Given the description of an element on the screen output the (x, y) to click on. 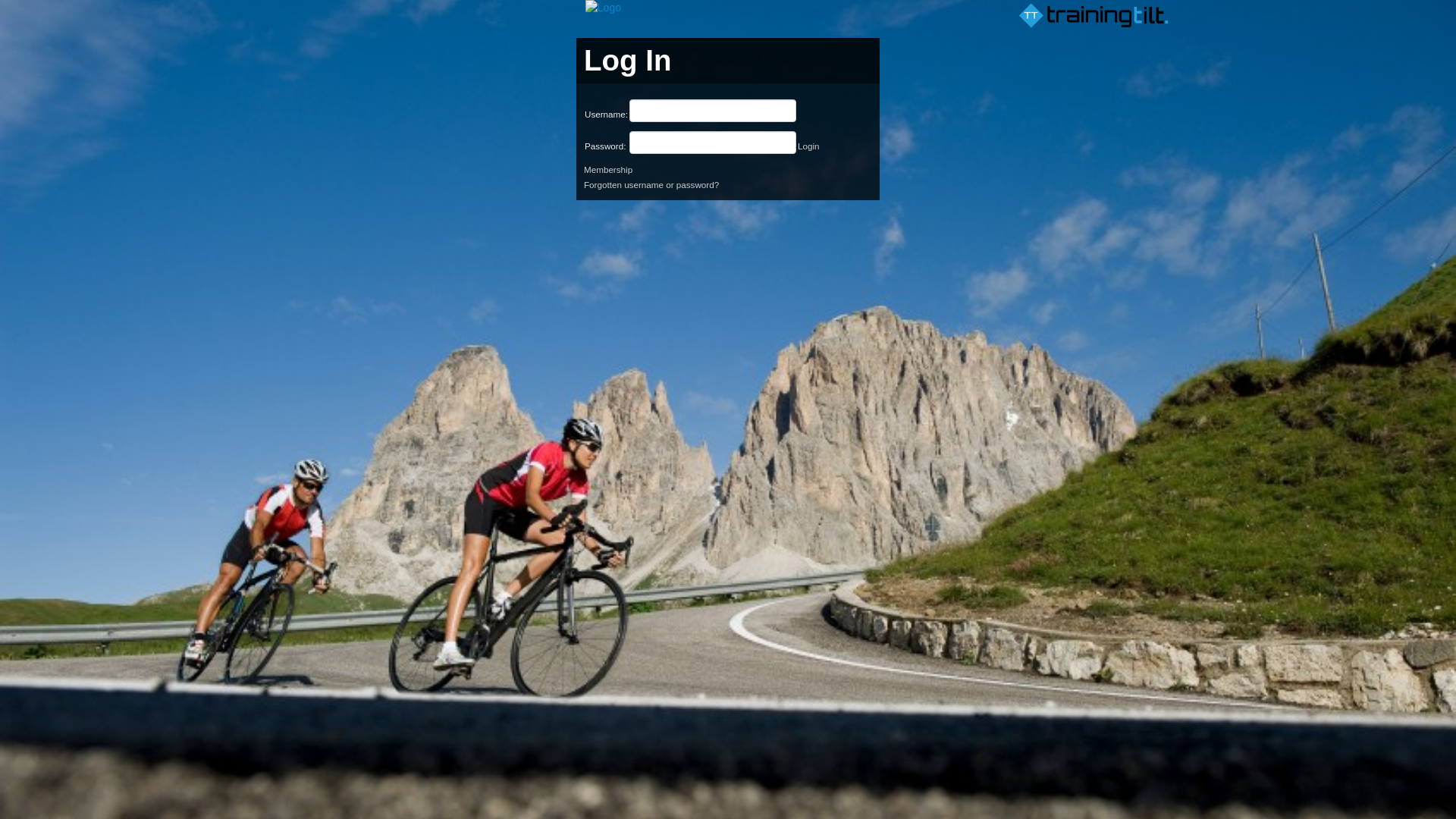
Forgotten username or password? Element type: text (650, 184)
Login Element type: text (808, 145)
Membership Element type: text (607, 169)
